Given the description of an element on the screen output the (x, y) to click on. 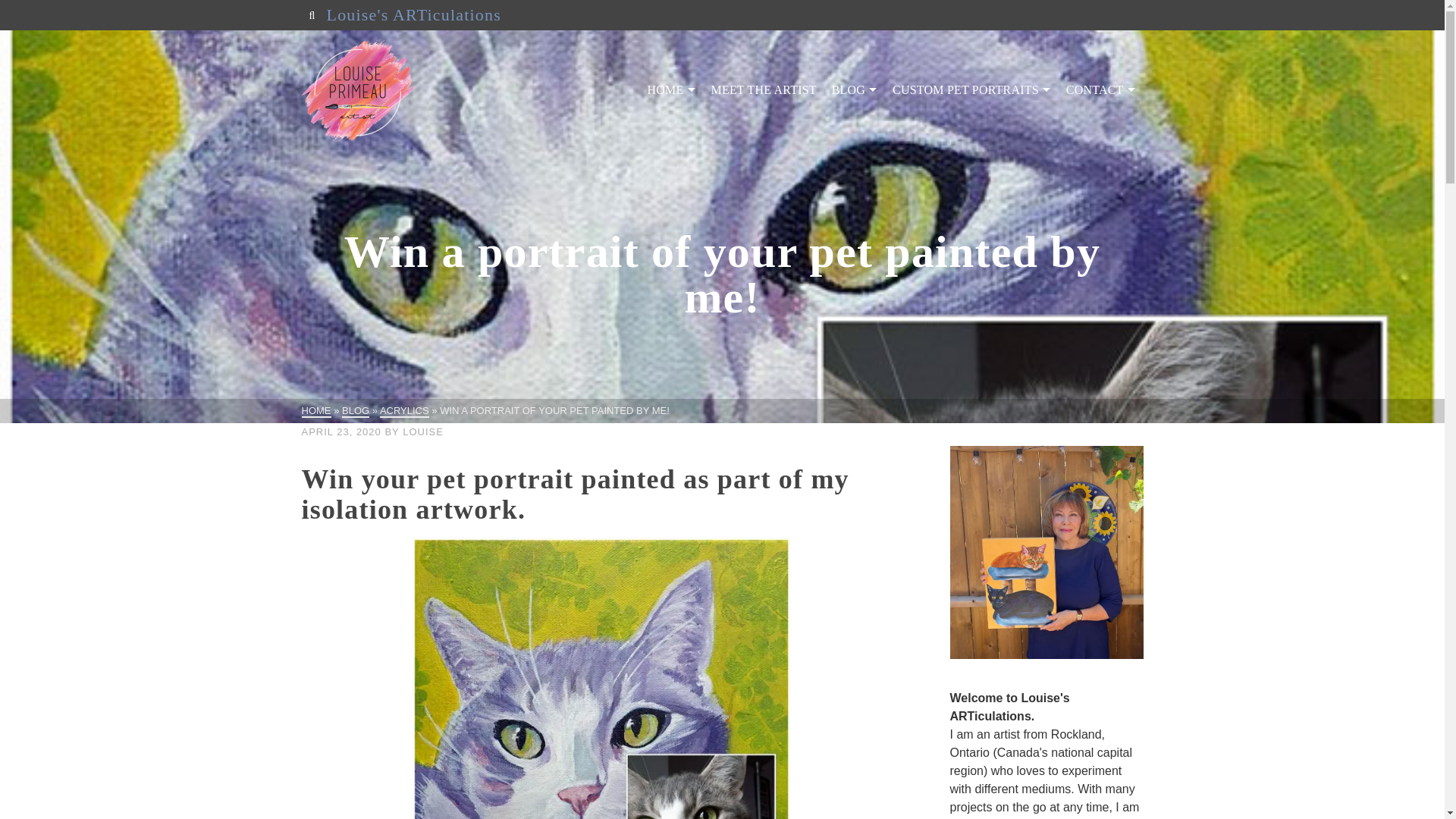
BLOG (854, 90)
MEET THE ARTIST (763, 90)
CUSTOM PET PORTRAITS (971, 90)
HOME (671, 90)
